Given the description of an element on the screen output the (x, y) to click on. 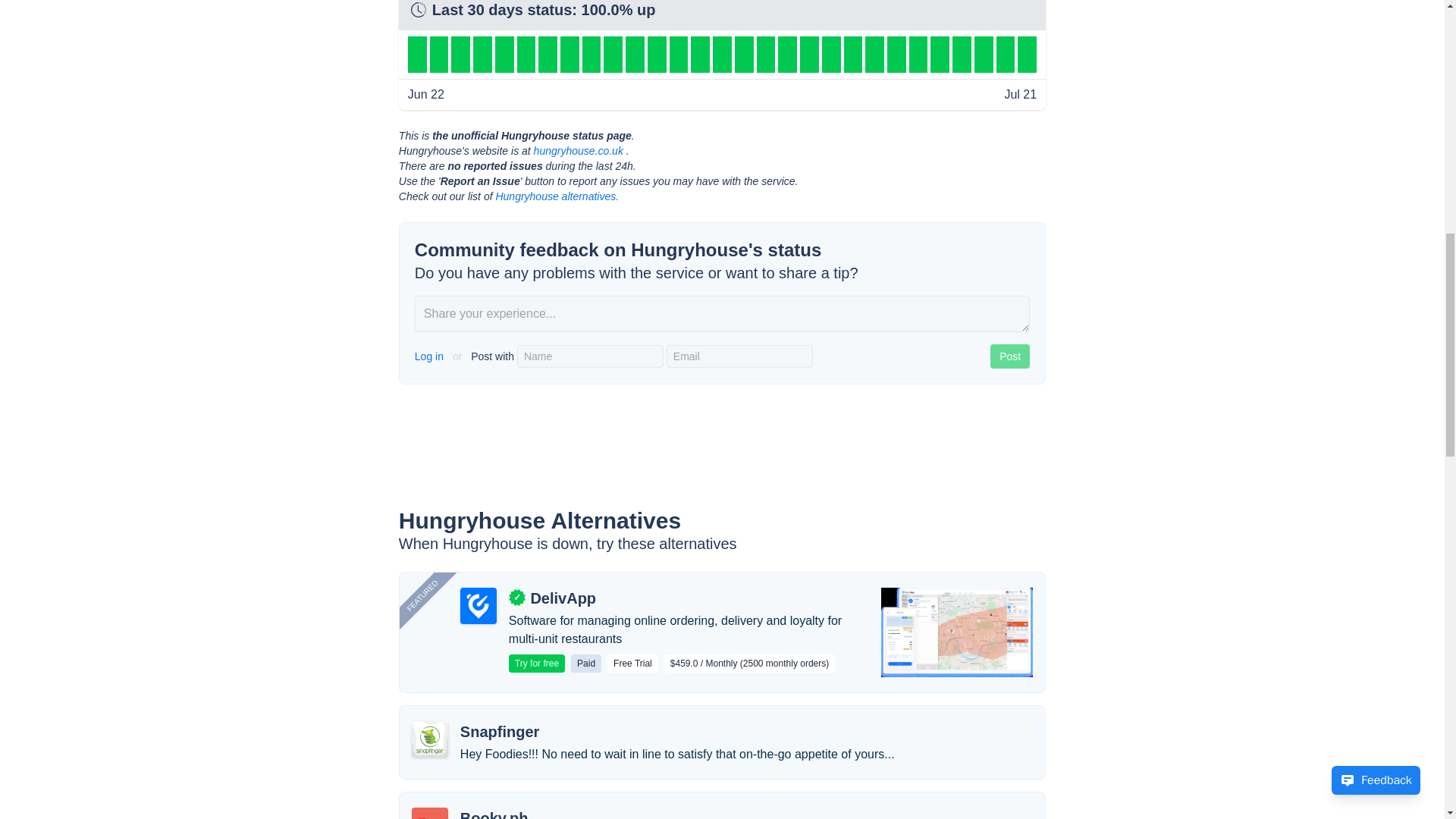
Booky.ph (494, 813)
FEATURED (443, 533)
hungryhouse.co.uk (578, 150)
Post (1009, 355)
Try for free (536, 663)
Log in (430, 356)
Snapfinger (499, 731)
Post (1009, 355)
Hungryhouse alternatives. (556, 196)
